Given the description of an element on the screen output the (x, y) to click on. 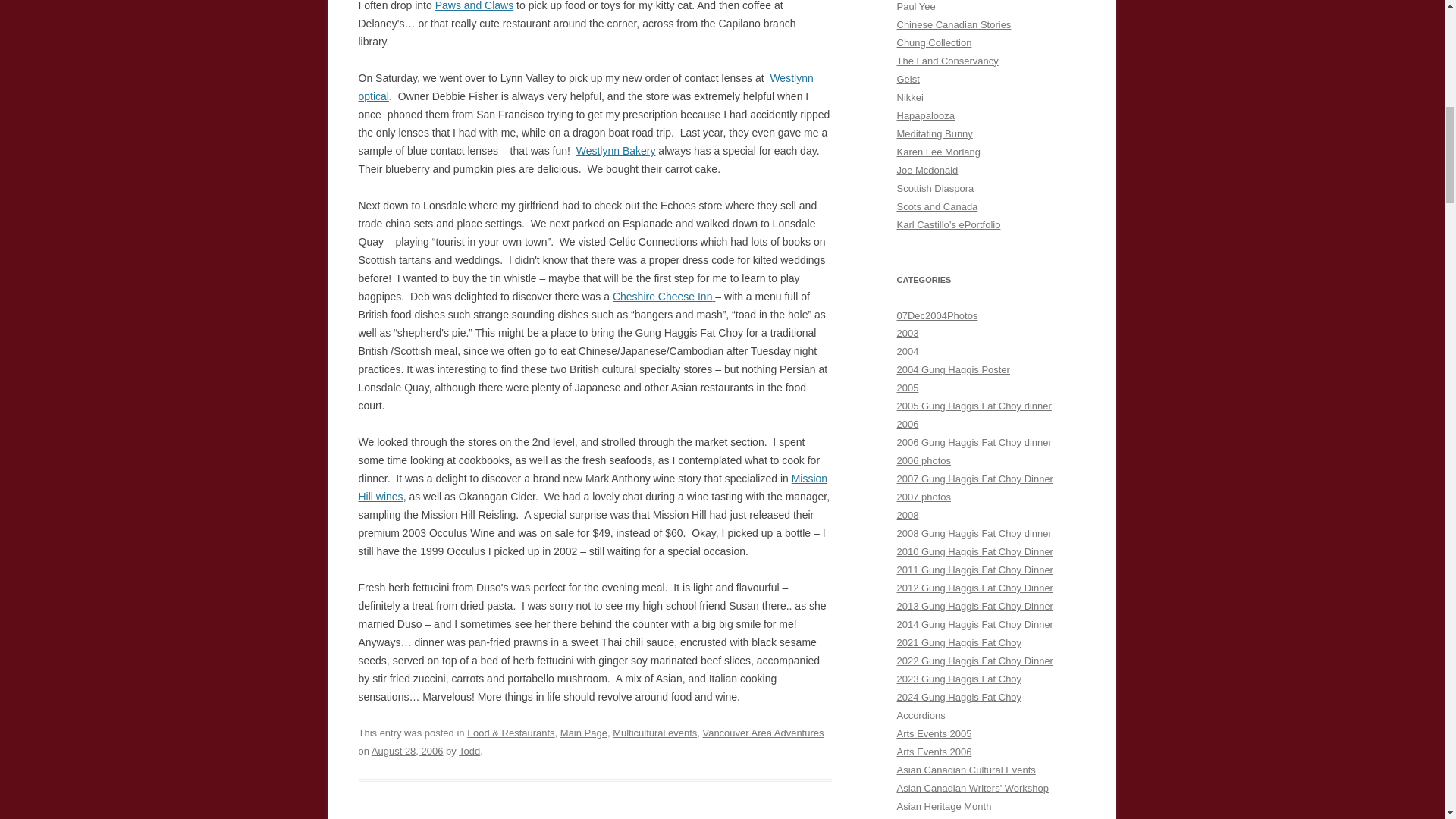
Westlynn Bakery (616, 150)
Todd (469, 750)
Cheshire Cheese Inn (662, 296)
Westlynn optical (585, 87)
Main Page (583, 732)
Paws and Claws (474, 5)
August 28, 2006 (407, 750)
Multicultural events (654, 732)
6:58 AM (407, 750)
Mission Hill wines (592, 487)
